Given the description of an element on the screen output the (x, y) to click on. 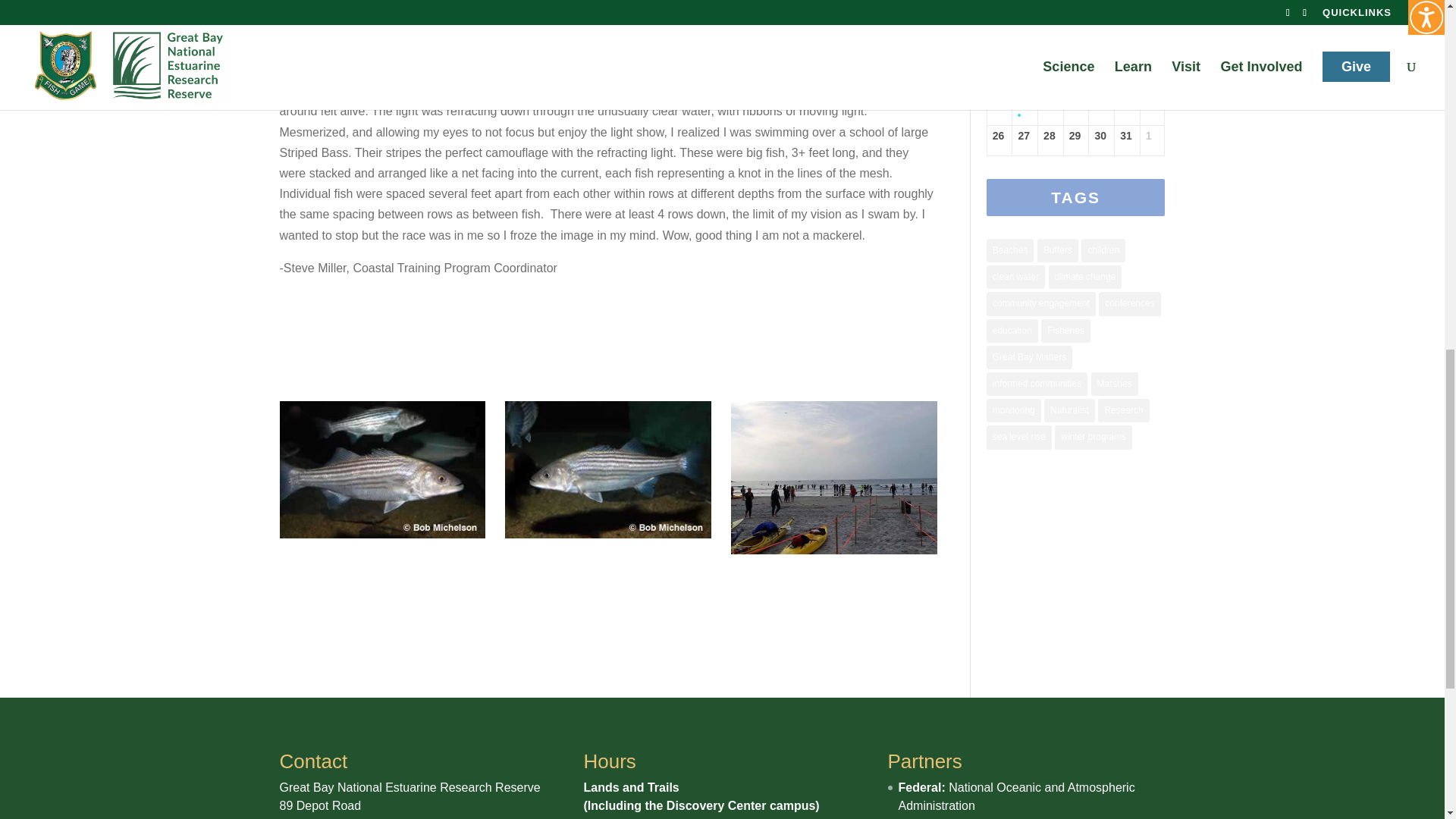
striper blog sporting (833, 477)
